Given the description of an element on the screen output the (x, y) to click on. 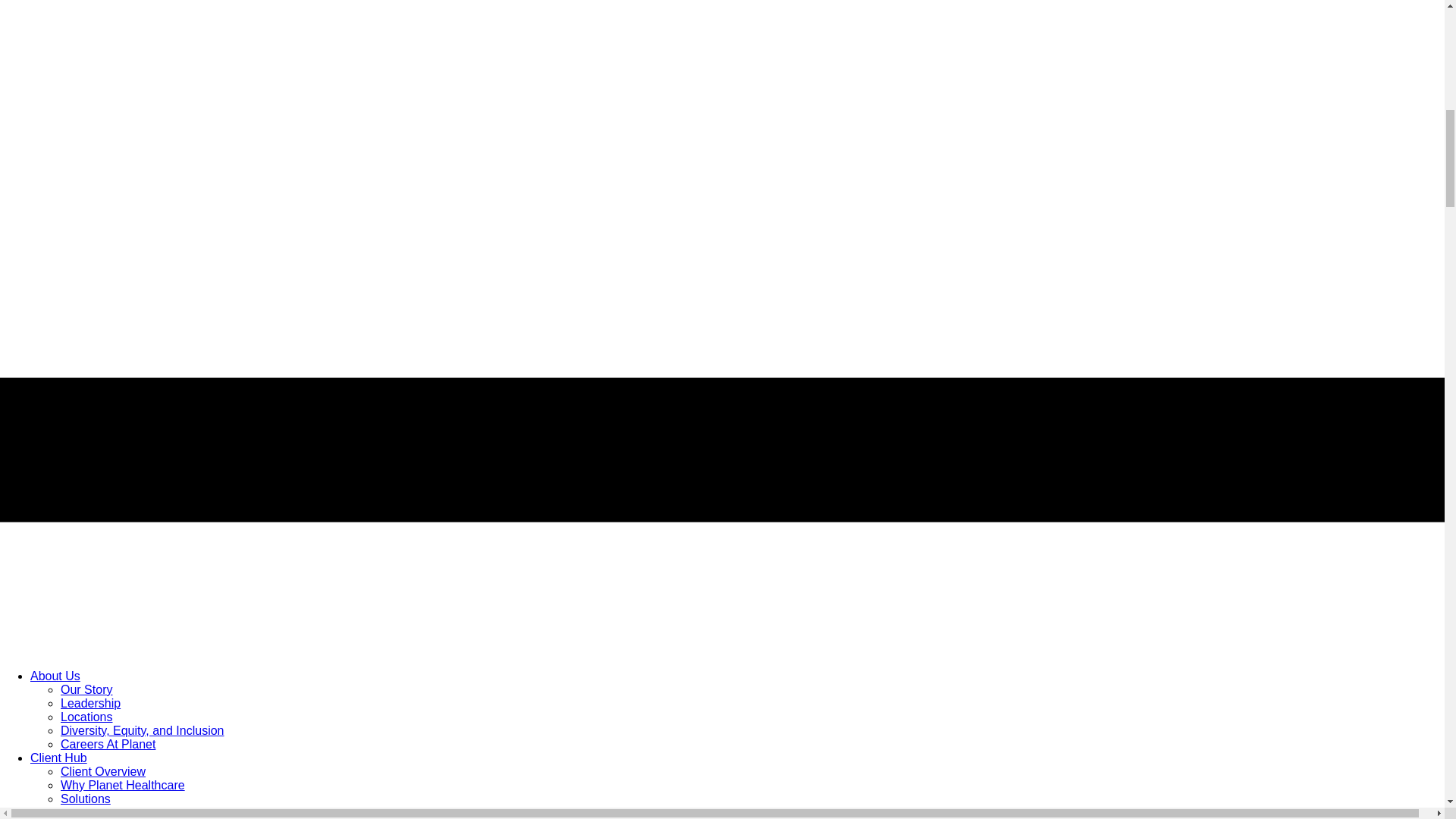
Our Story (86, 689)
Practice Areas (99, 812)
Solutions (85, 798)
Leadership (90, 703)
Locations (87, 716)
Diversity, Equity, and Inclusion (142, 730)
Why Planet Healthcare (122, 784)
Client Hub (58, 757)
About Us (55, 675)
Careers At Planet (108, 744)
Client Overview (103, 771)
